Given the description of an element on the screen output the (x, y) to click on. 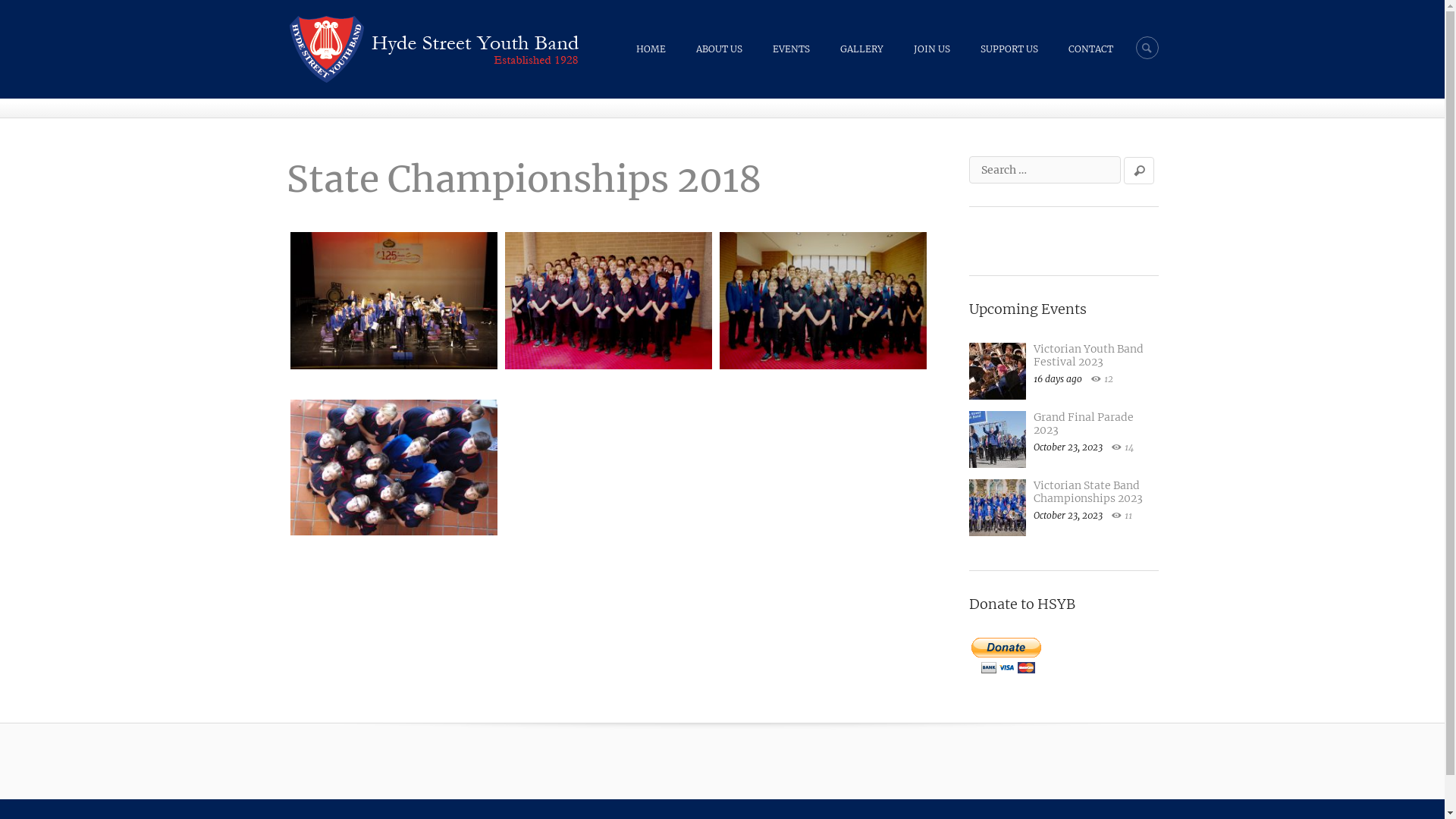
Victorian State Band Championships 2023 Element type: text (1087, 491)
Grand Final Parade 2023 Element type: text (1082, 423)
SUPPORT US Element type: text (1008, 48)
14 Element type: text (1122, 447)
11 Element type: text (1121, 515)
Victorian Youth Band Festival 2023 Element type: text (1087, 355)
EVENTS Element type: text (790, 48)
12 Element type: text (1100, 379)
Open/close search form Element type: hover (1146, 47)
JOIN US Element type: text (930, 48)
HOME Element type: text (650, 48)
GALLERY Element type: text (861, 48)
CONTACT Element type: text (1089, 48)
ABOUT US Element type: text (718, 48)
Search for: Element type: hover (1044, 169)
